Given the description of an element on the screen output the (x, y) to click on. 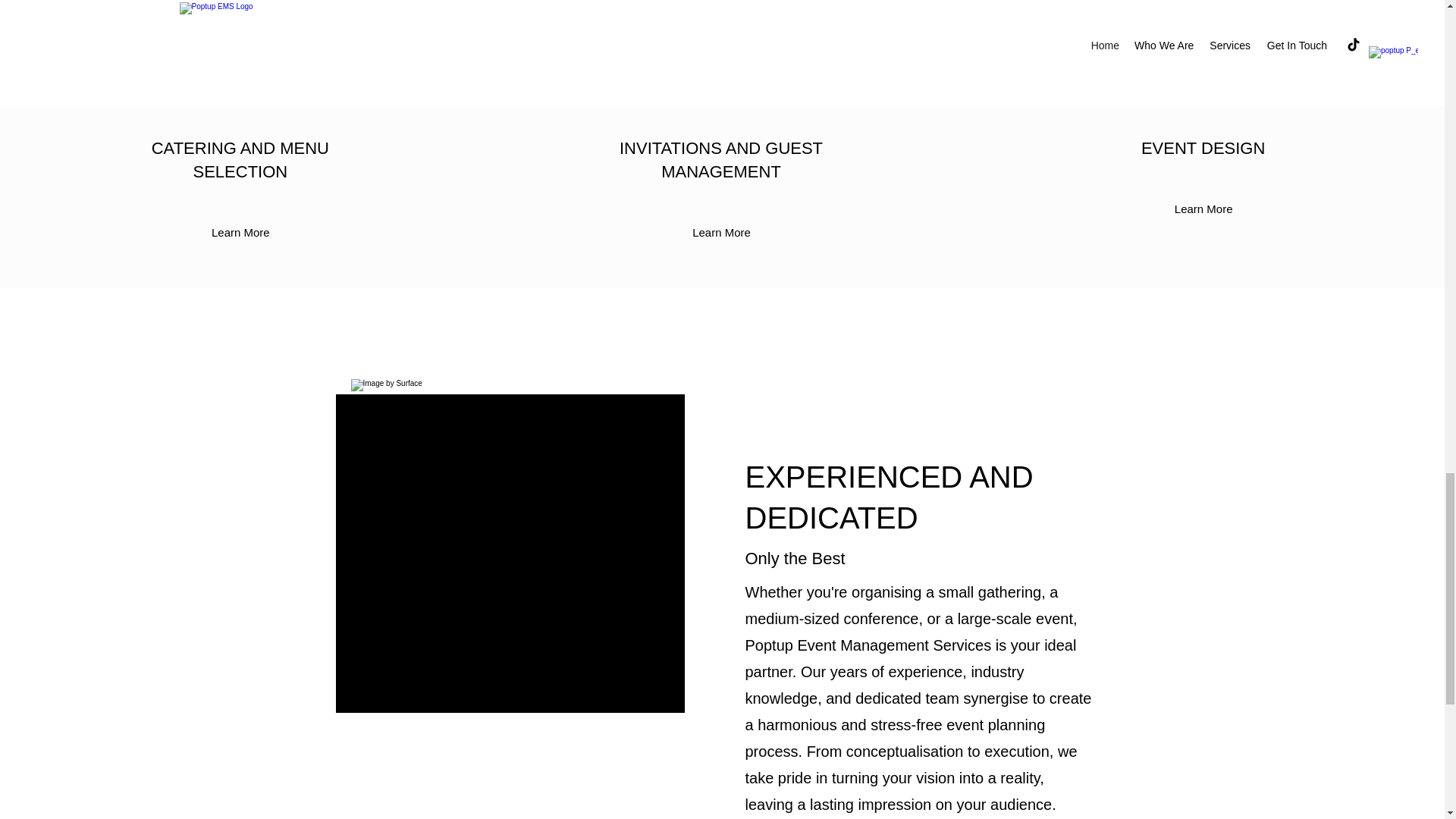
Learn More (240, 232)
Learn More (1203, 209)
Learn More (722, 232)
